Given the description of an element on the screen output the (x, y) to click on. 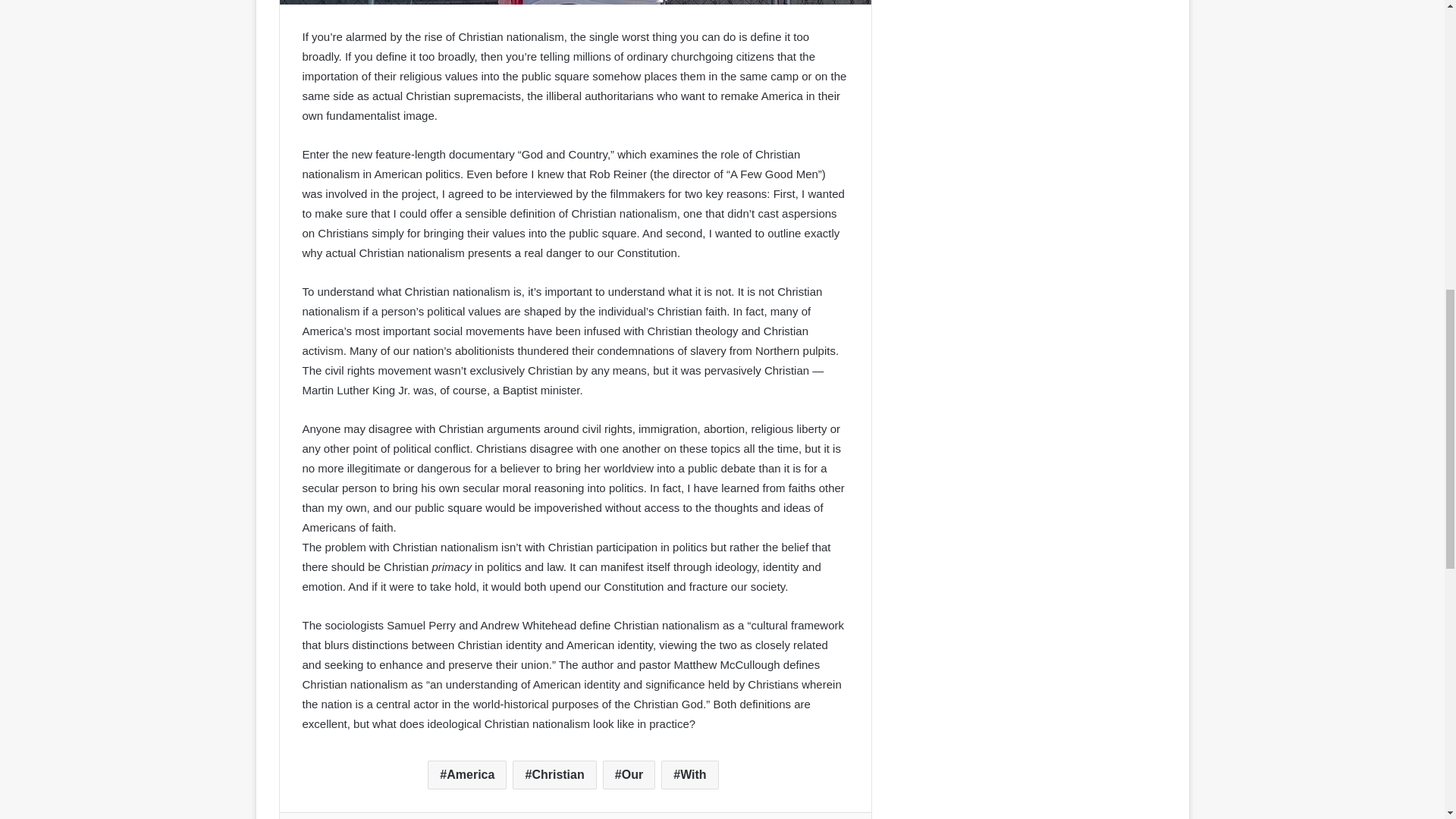
With (689, 774)
Christian (553, 774)
Our (628, 774)
America (467, 774)
